Given the description of an element on the screen output the (x, y) to click on. 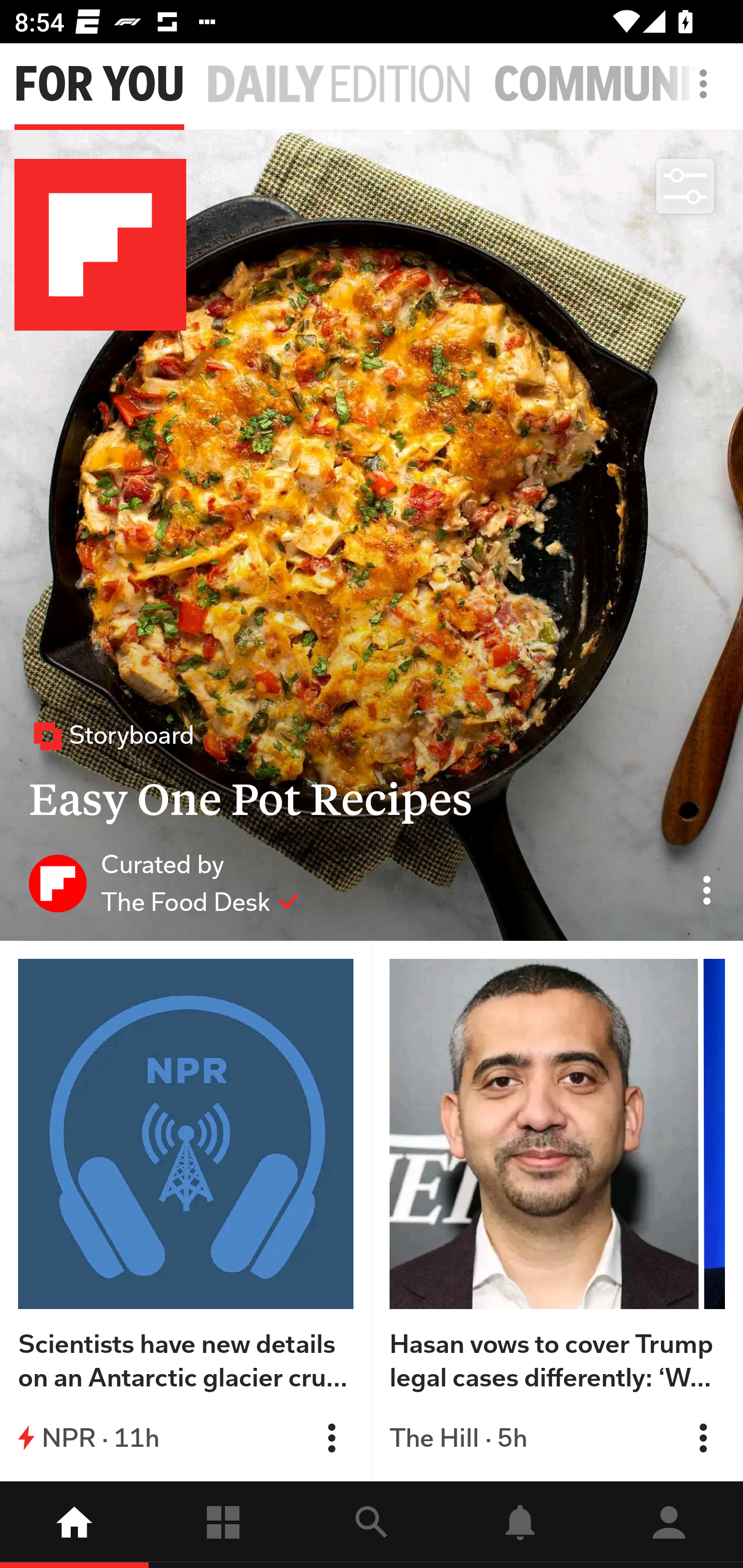
FOR YOU (99, 84)
COMMUNITY (618, 84)
More options (706, 93)
Curated by The Food Desk (163, 882)
NPR · 11h Flip into Magazine (185, 1437)
The Hill · 5h Flip into Magazine (557, 1437)
Flip into Magazine (331, 1437)
Flip into Magazine (703, 1437)
home (74, 1524)
Following (222, 1524)
explore (371, 1524)
Notifications (519, 1524)
Profile (668, 1524)
